Given the description of an element on the screen output the (x, y) to click on. 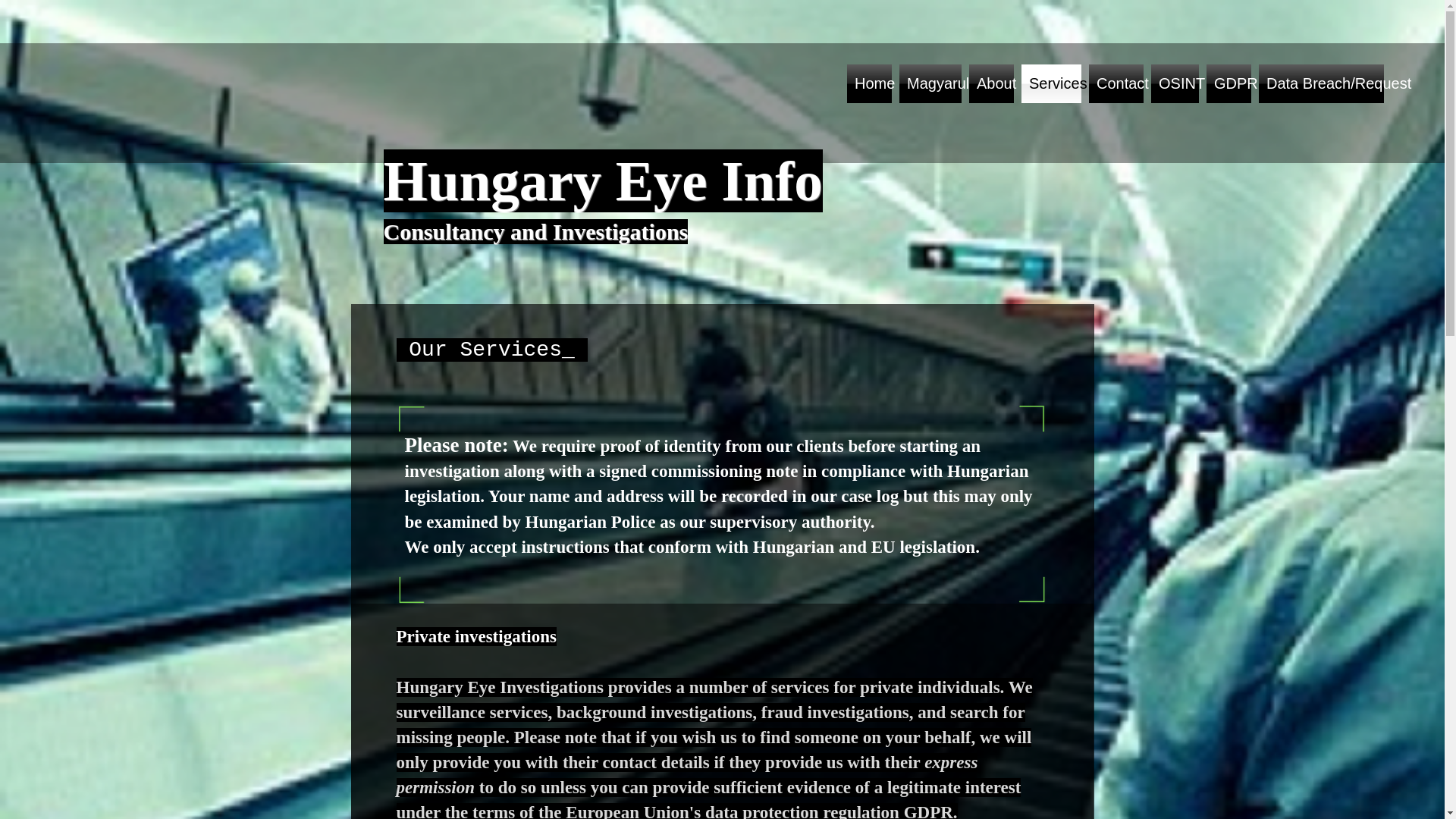
Magyarul (930, 83)
Hungarian Police (593, 521)
Contact (1115, 83)
Services (1050, 83)
About (991, 83)
GDPR (1228, 83)
Home (869, 83)
OSINT (1174, 83)
